Given the description of an element on the screen output the (x, y) to click on. 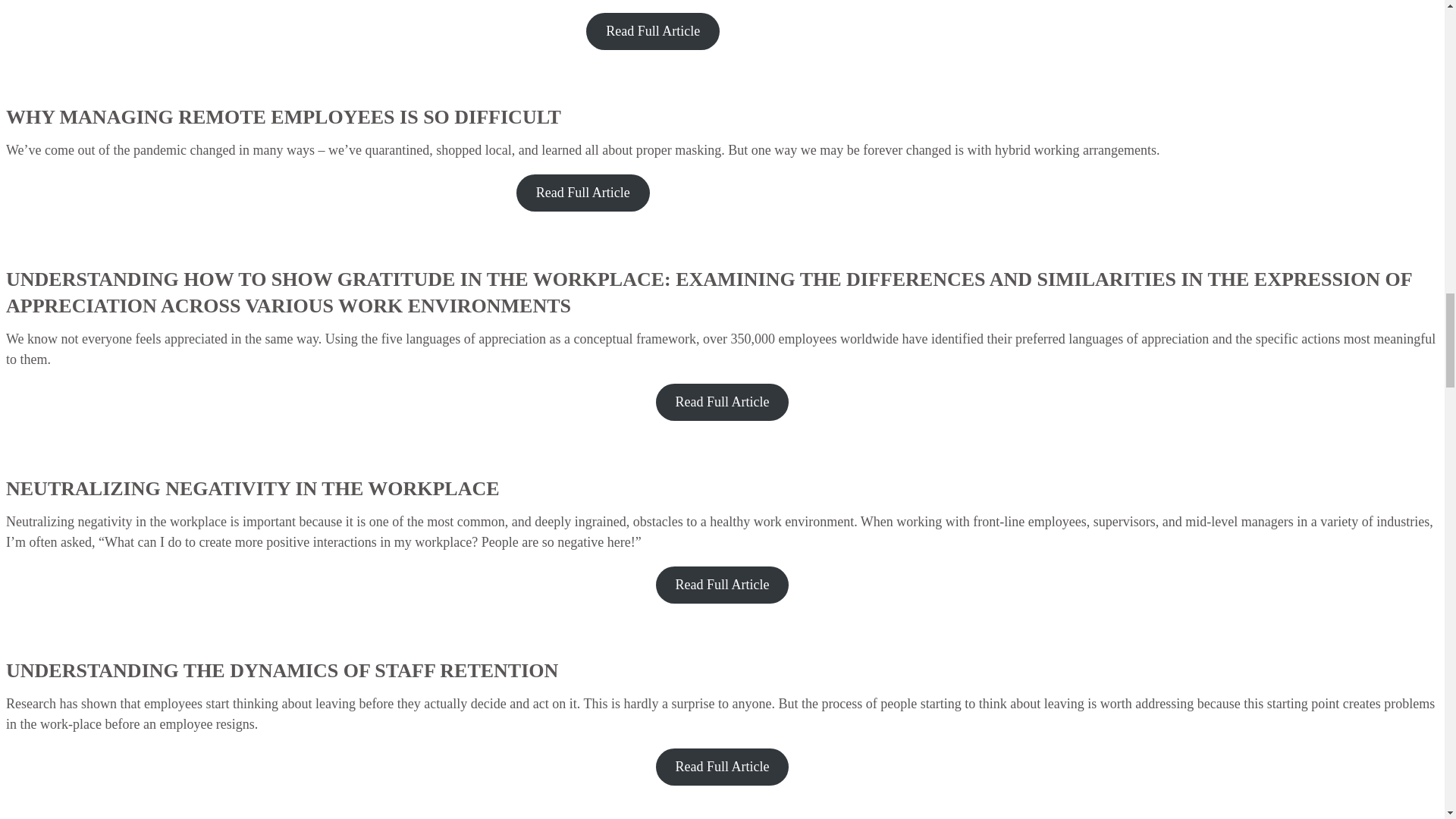
Read Full Article (582, 192)
Read Full Article (652, 30)
Read Full Article (722, 584)
Read Full Article (722, 766)
Read Full Article (722, 402)
